Given the description of an element on the screen output the (x, y) to click on. 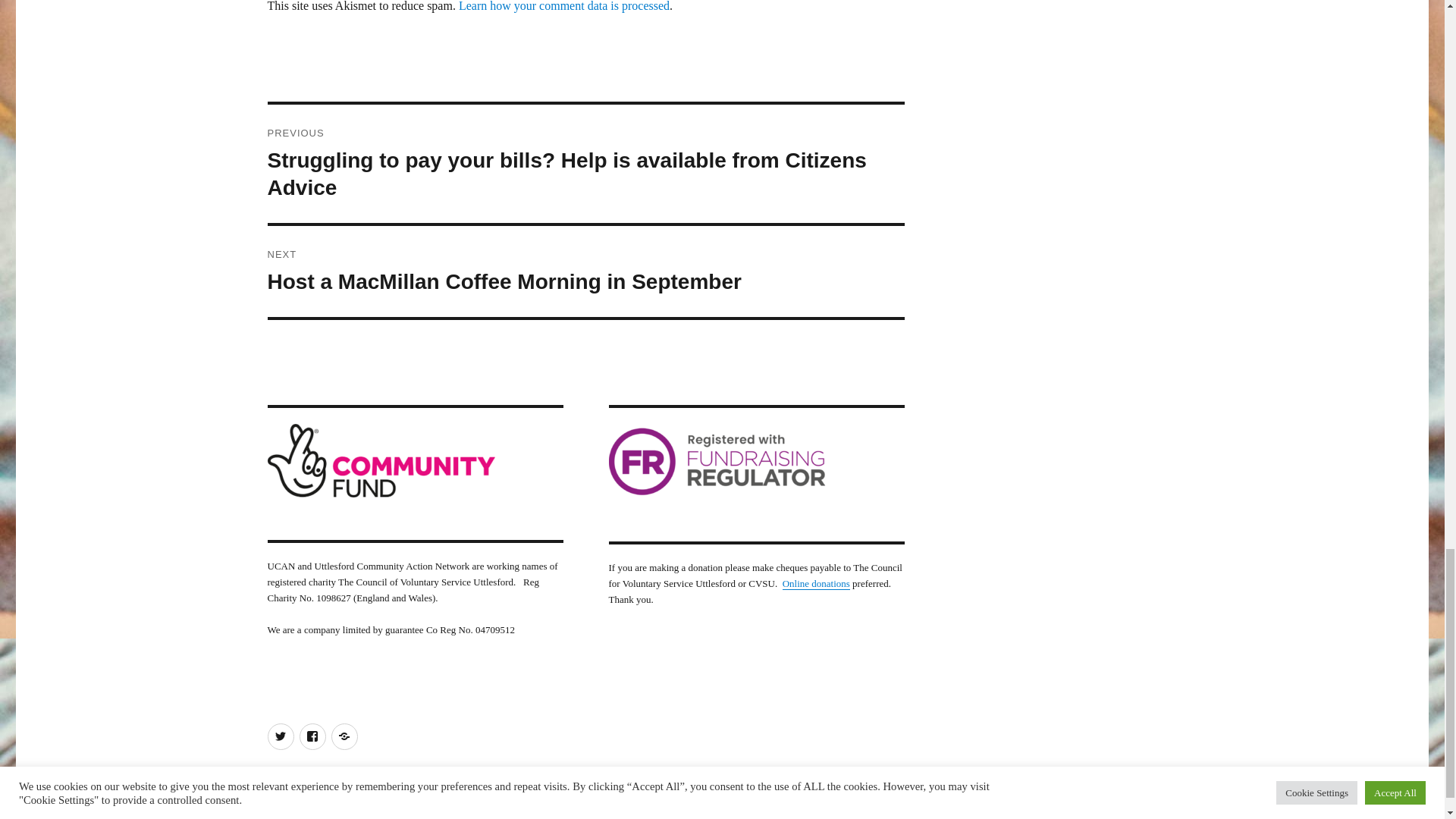
Online donations (585, 271)
Learn how your comment data is processed (816, 583)
